Given the description of an element on the screen output the (x, y) to click on. 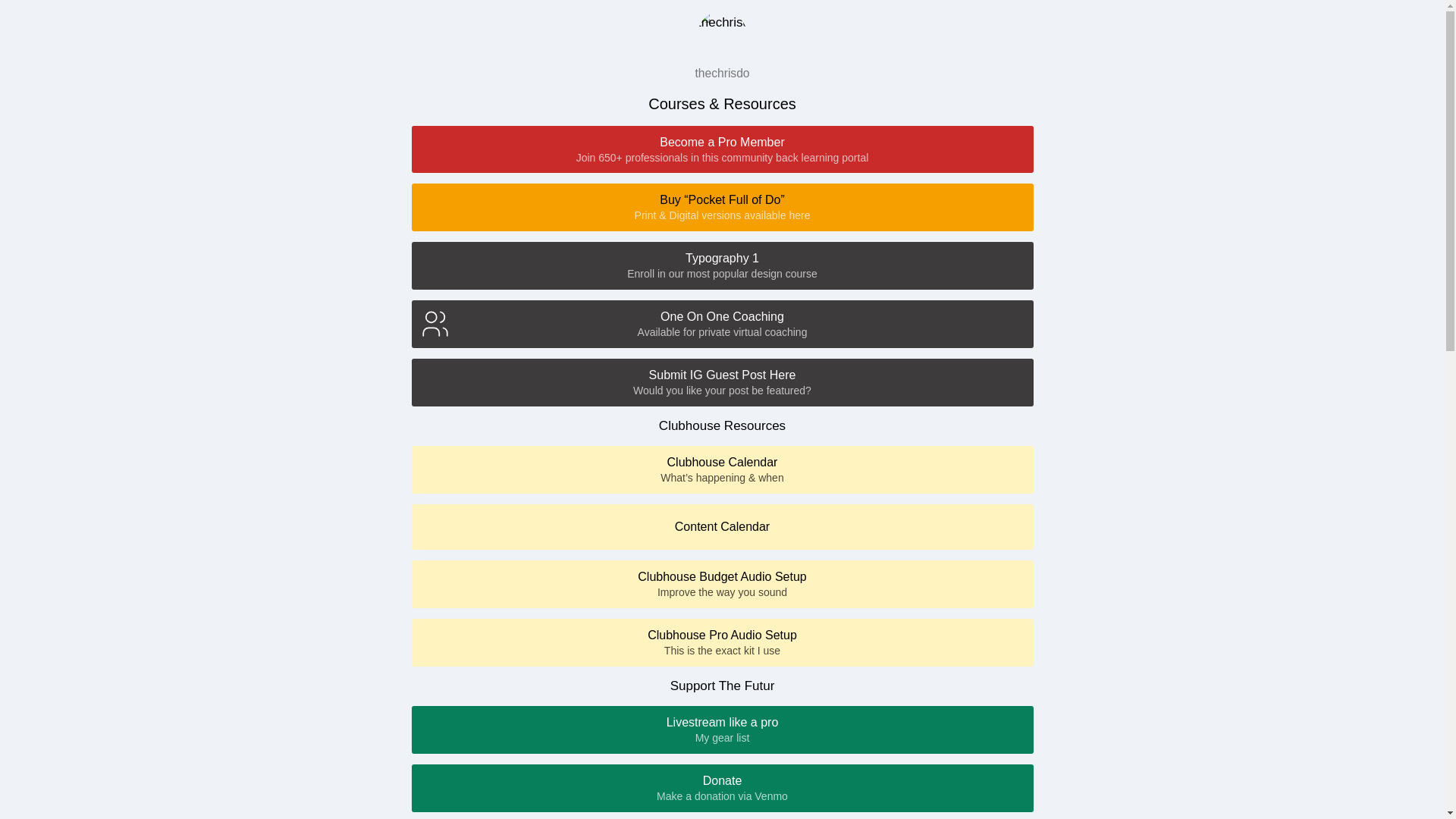
Livestream like a pro
My gear list Element type: text (721, 729)
Clubhouse Pro Audio Setup
This is the exact kit I use Element type: text (721, 642)
One On One Coaching
Available for private virtual coaching Element type: text (721, 324)
Content Calendar Element type: text (721, 526)
Donate
Make a donation via Venmo Element type: text (721, 788)
Clubhouse Budget Audio Setup
Improve the way you sound Element type: text (721, 584)
Typography 1
Enroll in our most popular design course Element type: text (721, 265)
